Given the description of an element on the screen output the (x, y) to click on. 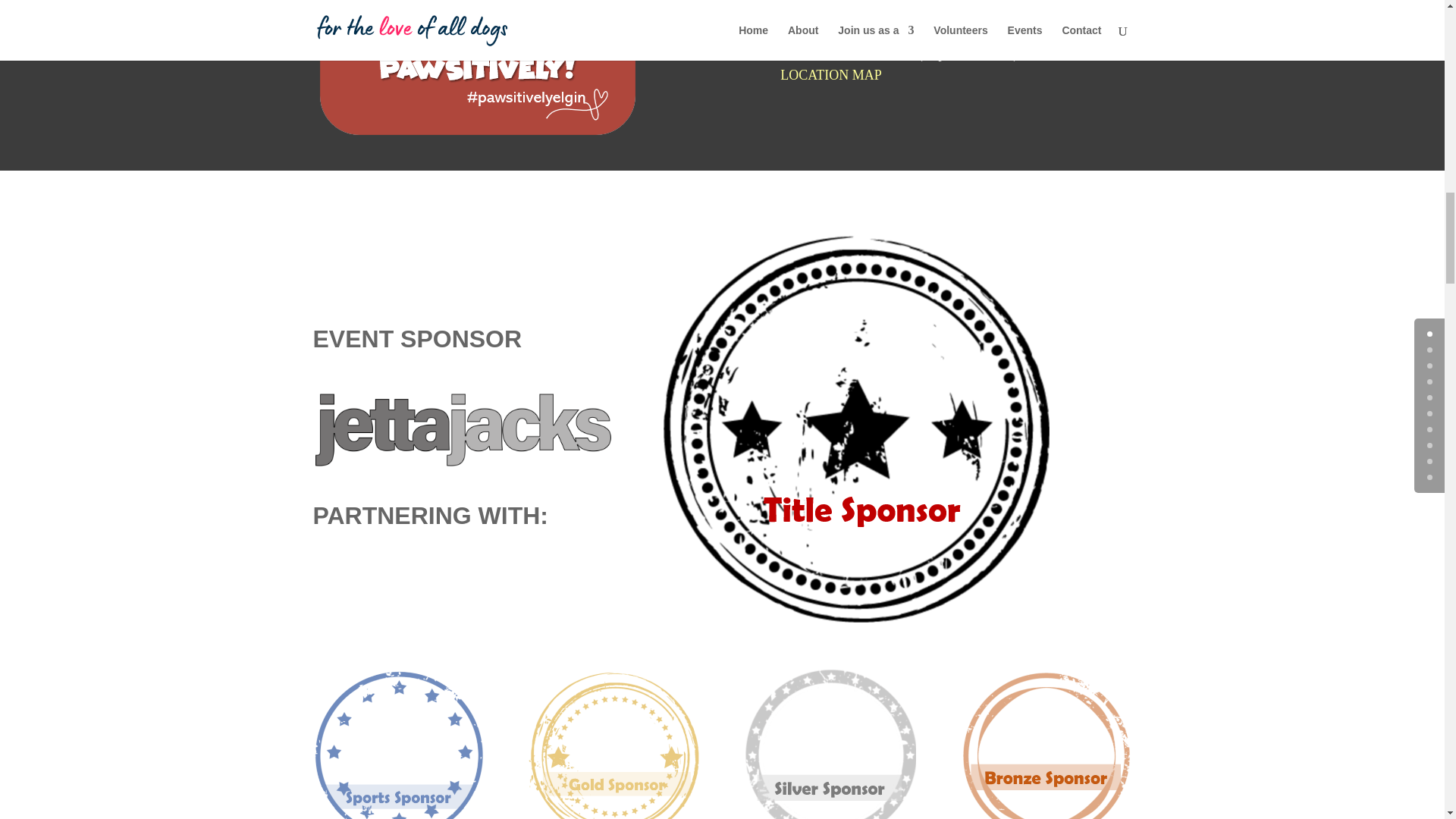
LOCATION MAP (831, 74)
